Given the description of an element on the screen output the (x, y) to click on. 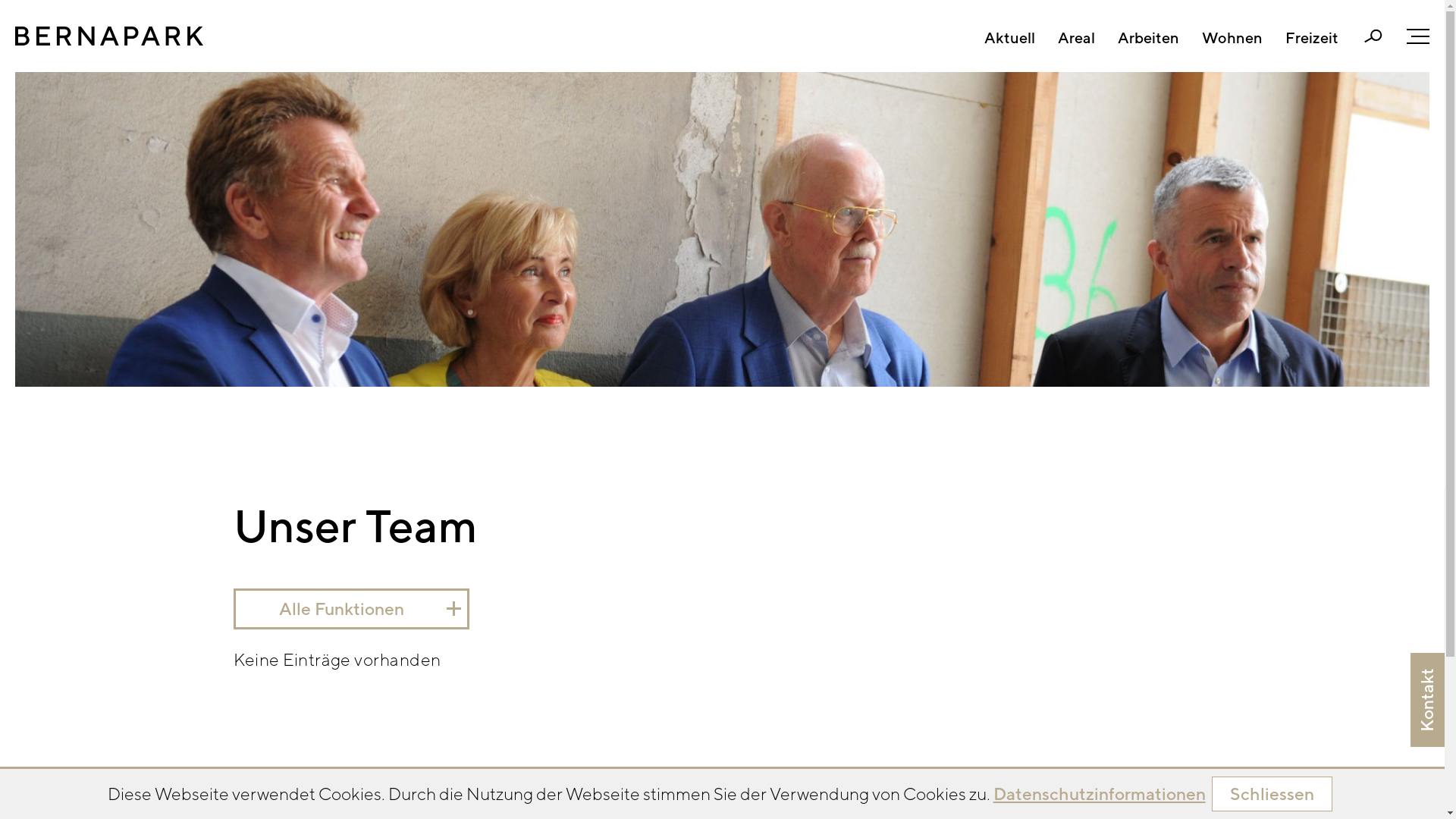
Aktuell Element type: text (1009, 37)
Freizeit Element type: text (1311, 37)
Zur Startseite Element type: hover (109, 35)
Schliessen Element type: text (1271, 793)
Datenschutzinformationen Element type: text (1099, 793)
Areal Element type: text (1076, 37)
Arbeiten Element type: text (1148, 37)
Wohnen Element type: text (1231, 37)
